Given the description of an element on the screen output the (x, y) to click on. 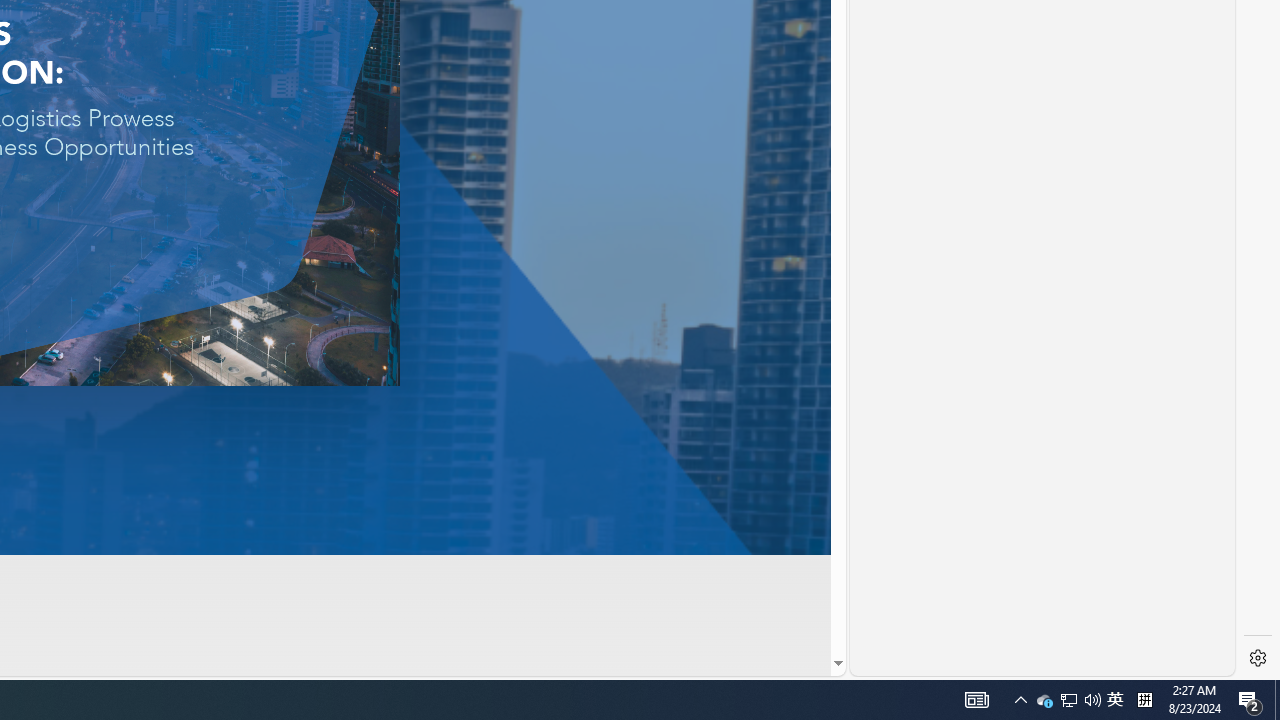
Class: slide_out_area_close (930, 13)
